Given the description of an element on the screen output the (x, y) to click on. 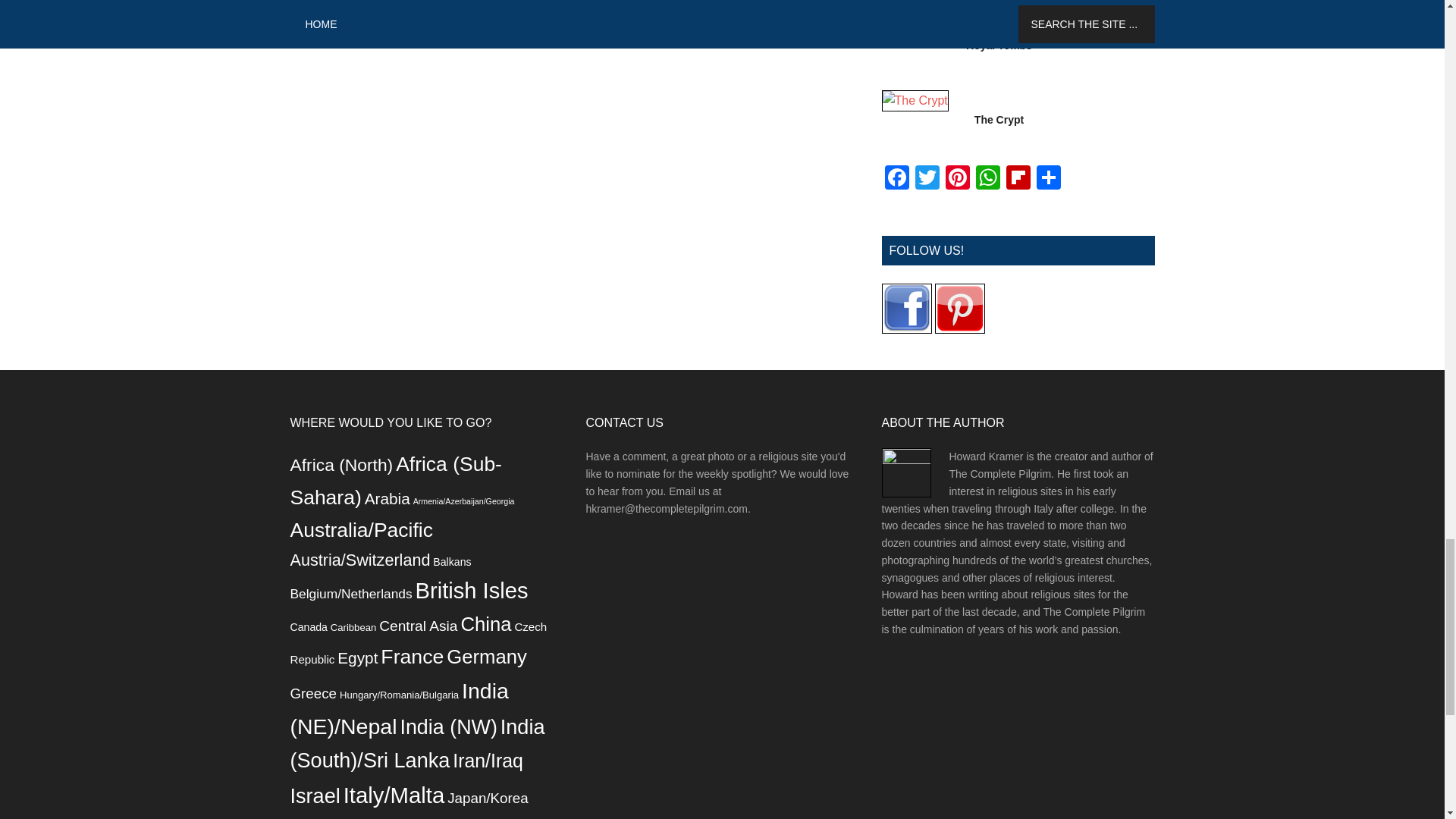
WhatsApp (987, 179)
Flipboard (1017, 179)
Pinterest (957, 179)
Twitter (926, 179)
Facebook (895, 179)
